Given the description of an element on the screen output the (x, y) to click on. 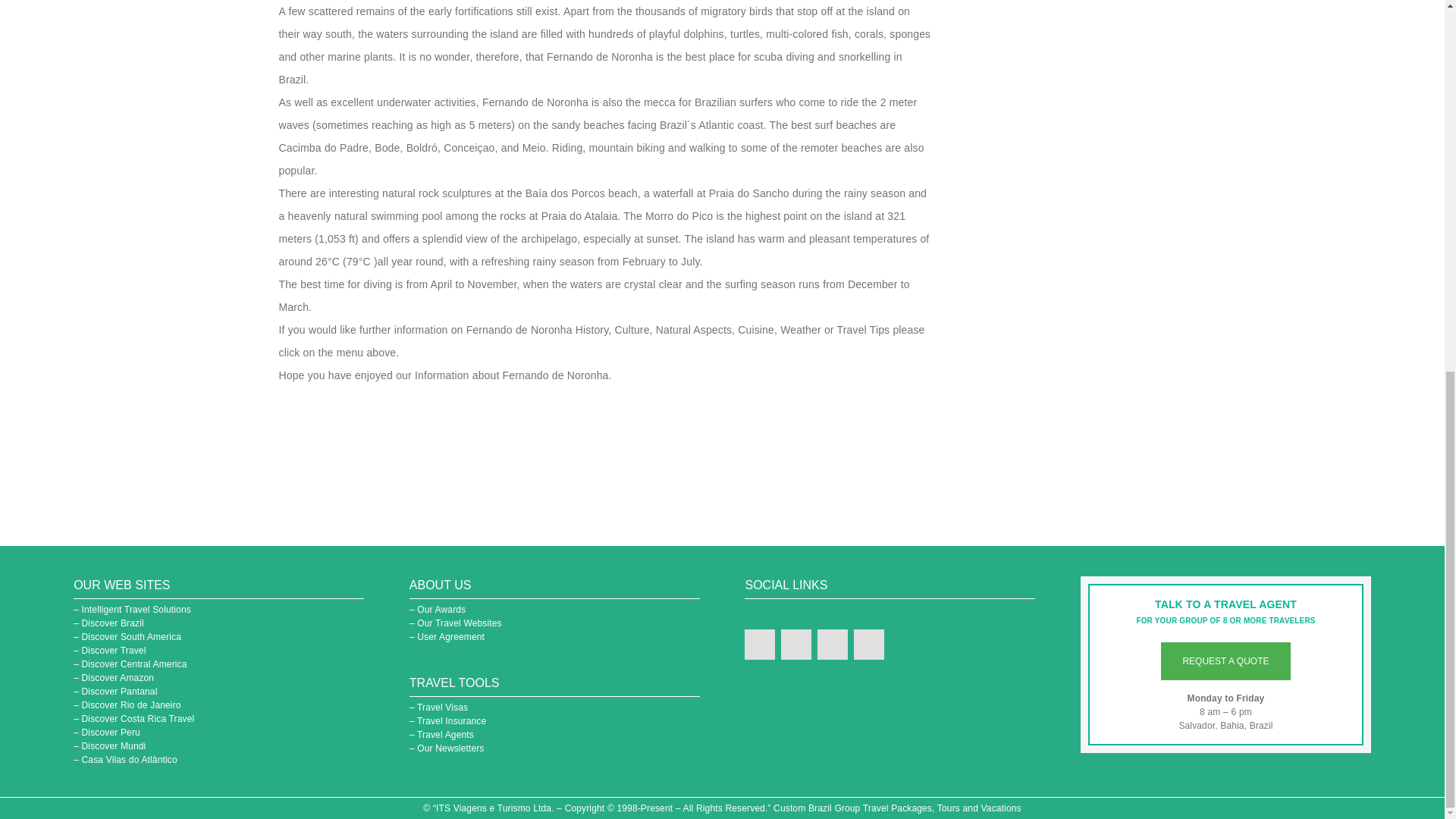
Youtube (831, 644)
Linkedin (795, 644)
Instagram (868, 644)
Facebook (759, 644)
